Given the description of an element on the screen output the (x, y) to click on. 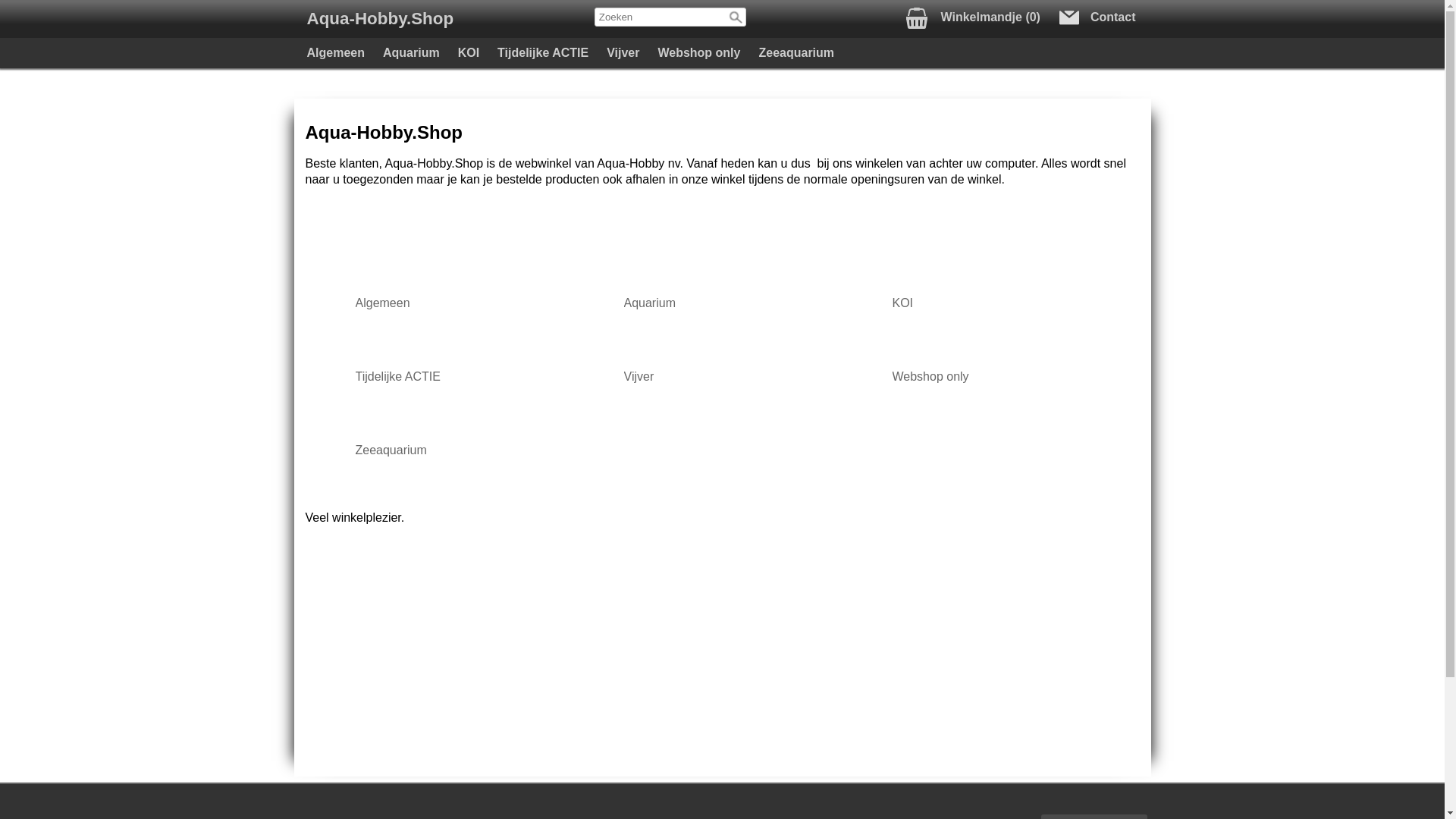
Tijdelijke ACTIE Element type: text (542, 52)
Aquarium Element type: text (721, 301)
KOI Element type: text (989, 301)
KOI Element type: text (468, 52)
Webshop only Element type: text (698, 52)
Vijver Element type: text (622, 52)
WinkelmandjeWinkelmandje (0) Element type: text (968, 17)
Tijdelijke ACTIE Element type: text (453, 374)
Contact Element type: text (1099, 17)
Webshop only Element type: text (989, 374)
Aqua-Hobby.Shop Element type: text (379, 18)
Algemeen Element type: text (335, 52)
Vijver Element type: text (721, 374)
Zeeaquarium Element type: text (453, 448)
Zeeaquarium Element type: text (796, 52)
Aquarium Element type: text (410, 52)
Algemeen Element type: text (453, 301)
